Given the description of an element on the screen output the (x, y) to click on. 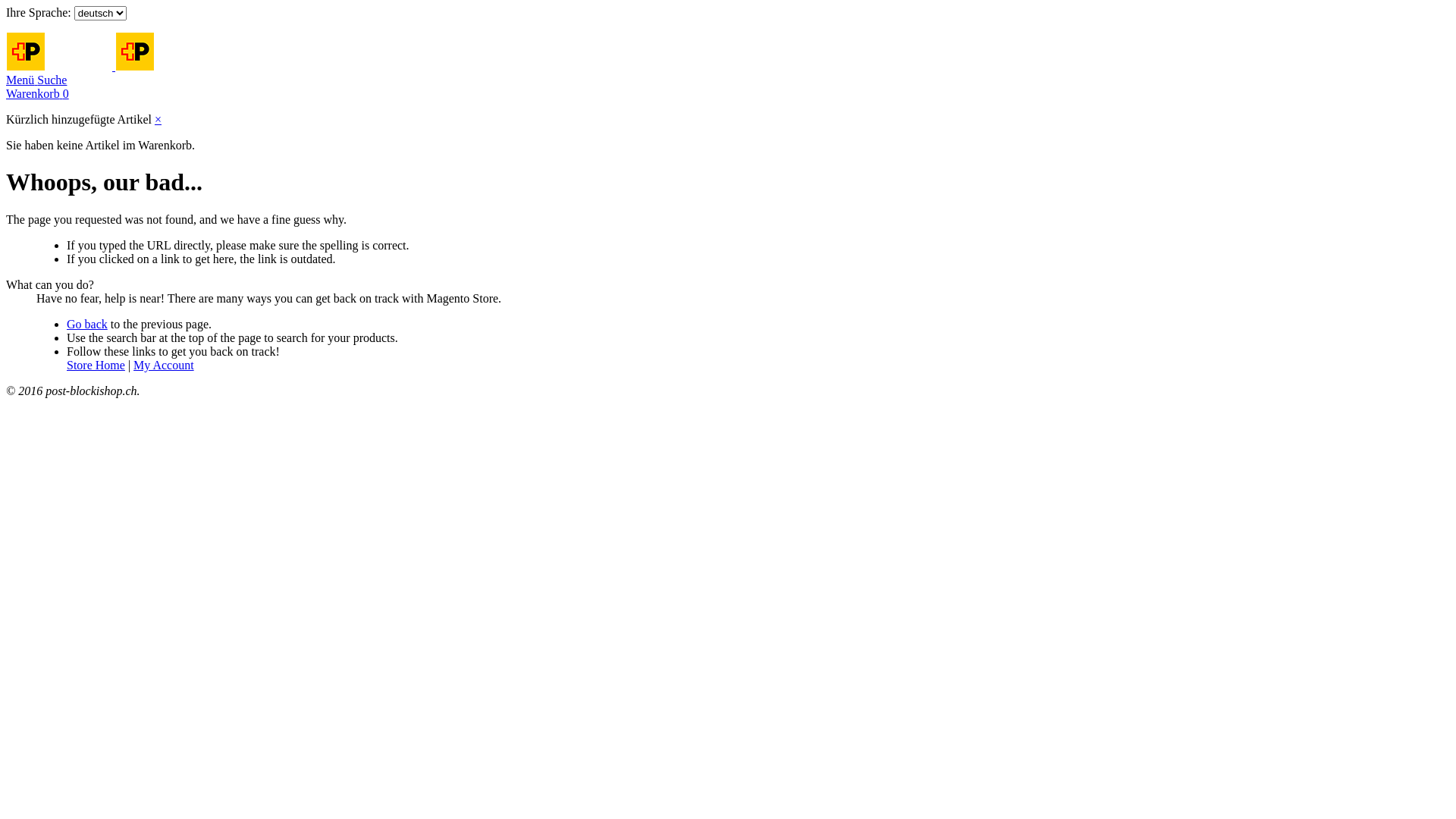
Go back Element type: text (86, 323)
Store Home Element type: text (95, 364)
Suche Element type: text (51, 79)
My Account Element type: text (163, 364)
Warenkorb 0 Element type: text (37, 93)
